Given the description of an element on the screen output the (x, y) to click on. 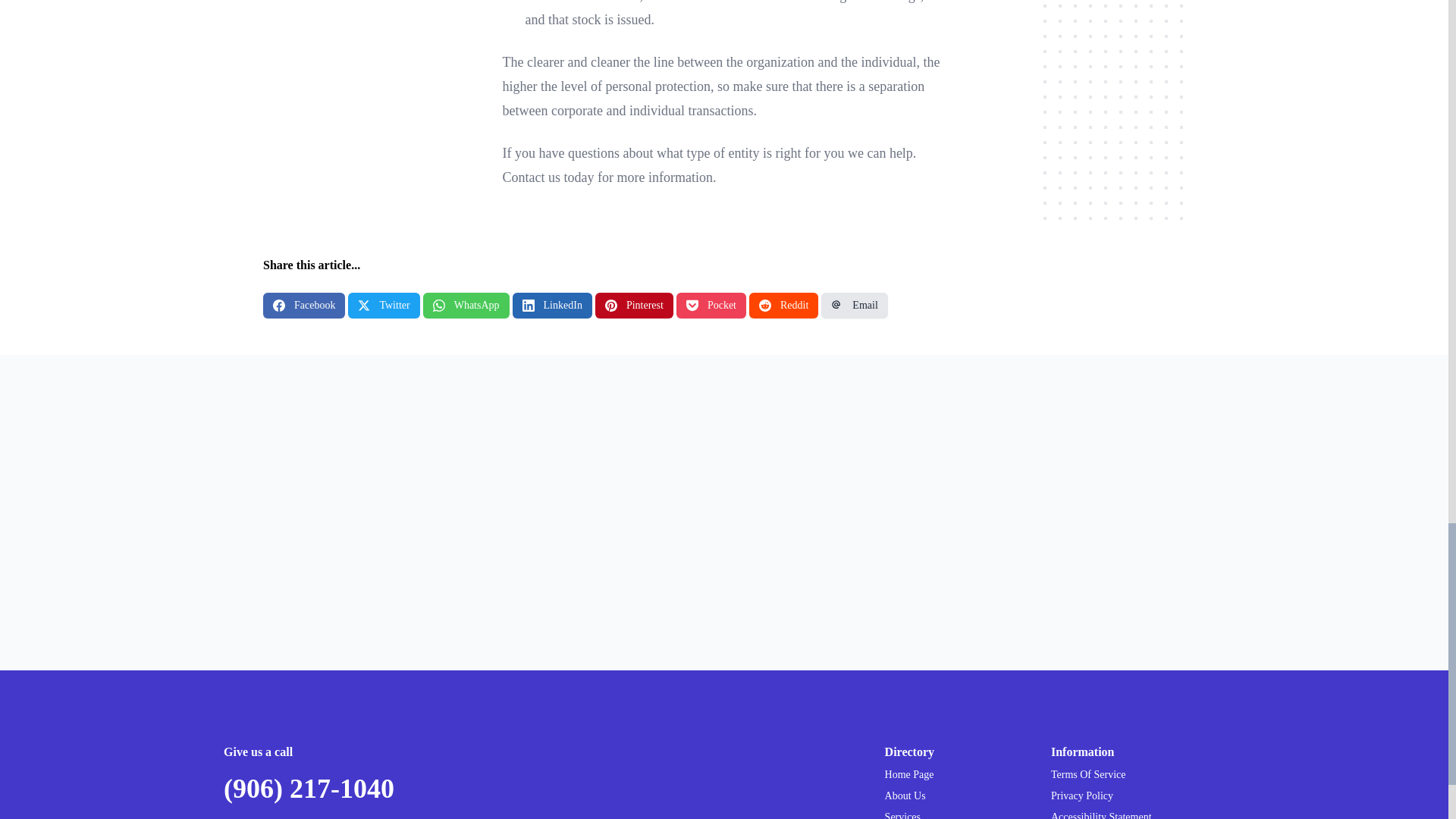
Facebook (304, 305)
Reddit (783, 305)
LinkedIn (552, 305)
WhatsApp (466, 305)
Pinterest (633, 305)
Pocket (711, 305)
Twitter (383, 305)
